Given the description of an element on the screen output the (x, y) to click on. 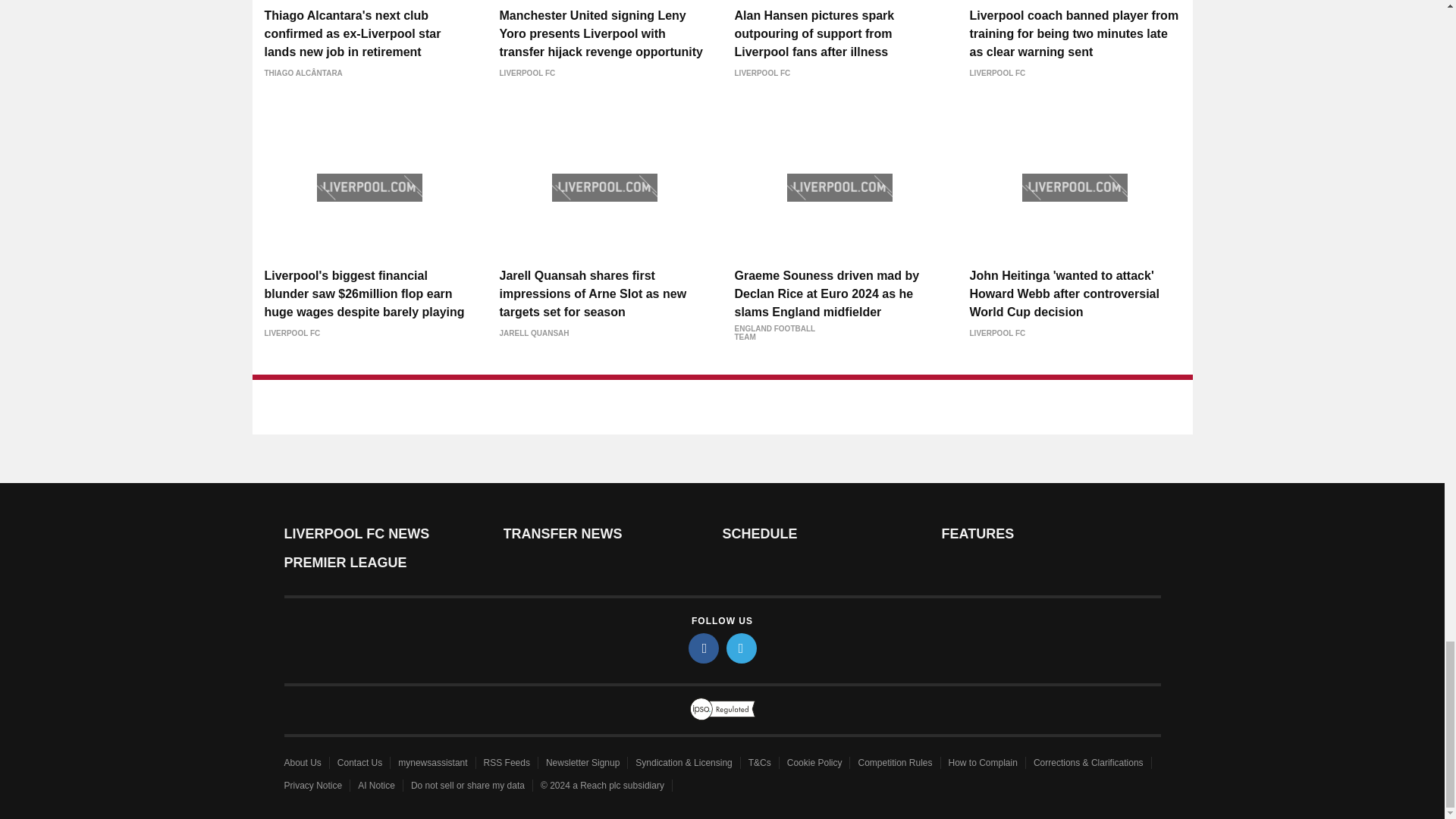
facebook (703, 648)
twitter (741, 648)
